Given the description of an element on the screen output the (x, y) to click on. 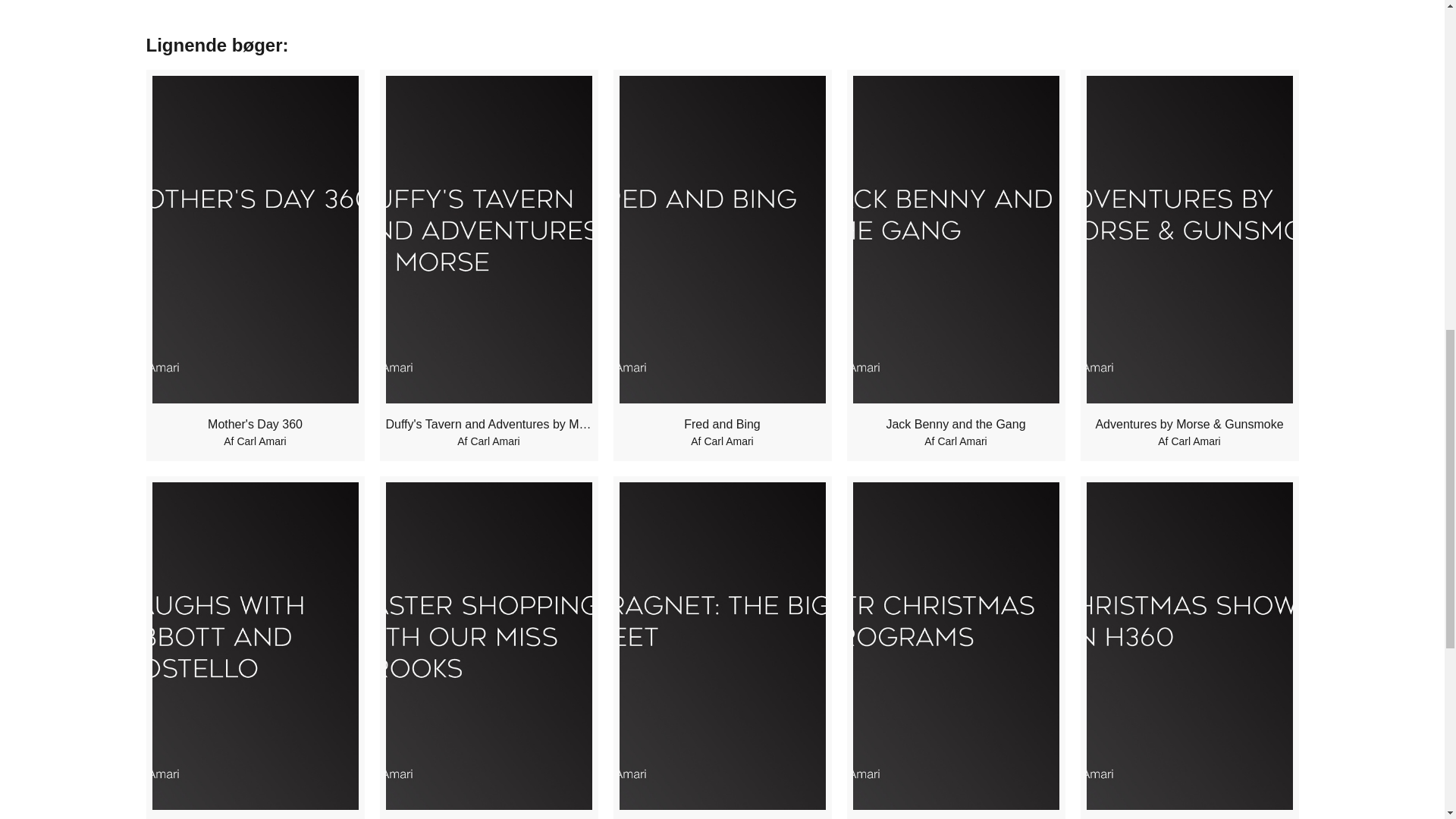
Fred and Bing (722, 424)
Duffy's Tavern and Adventures by Morse (488, 424)
Jack Benny and the Gang (955, 424)
Mother's Day 360 (255, 424)
